Given the description of an element on the screen output the (x, y) to click on. 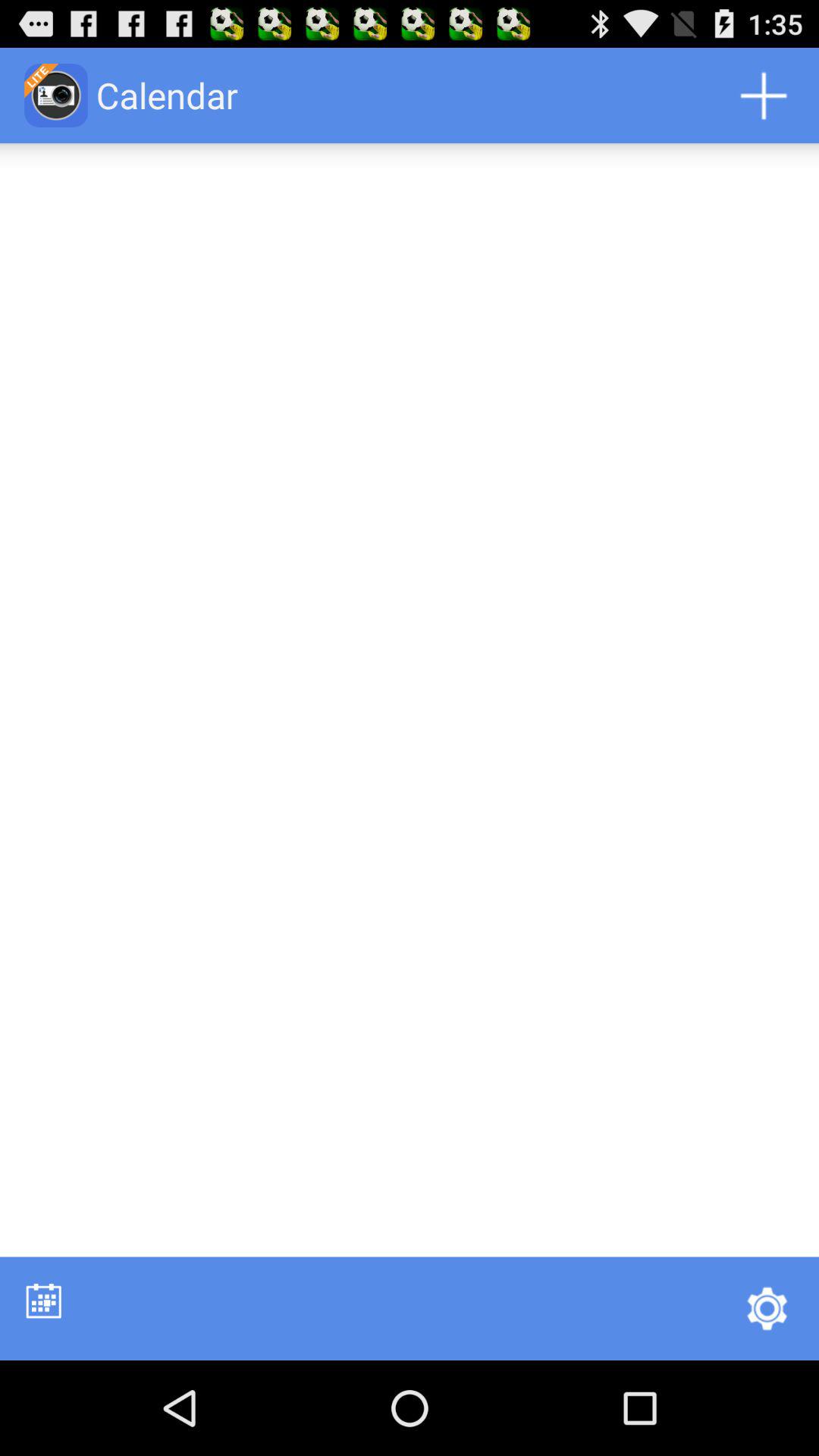
tap icon at the top right corner (763, 95)
